Given the description of an element on the screen output the (x, y) to click on. 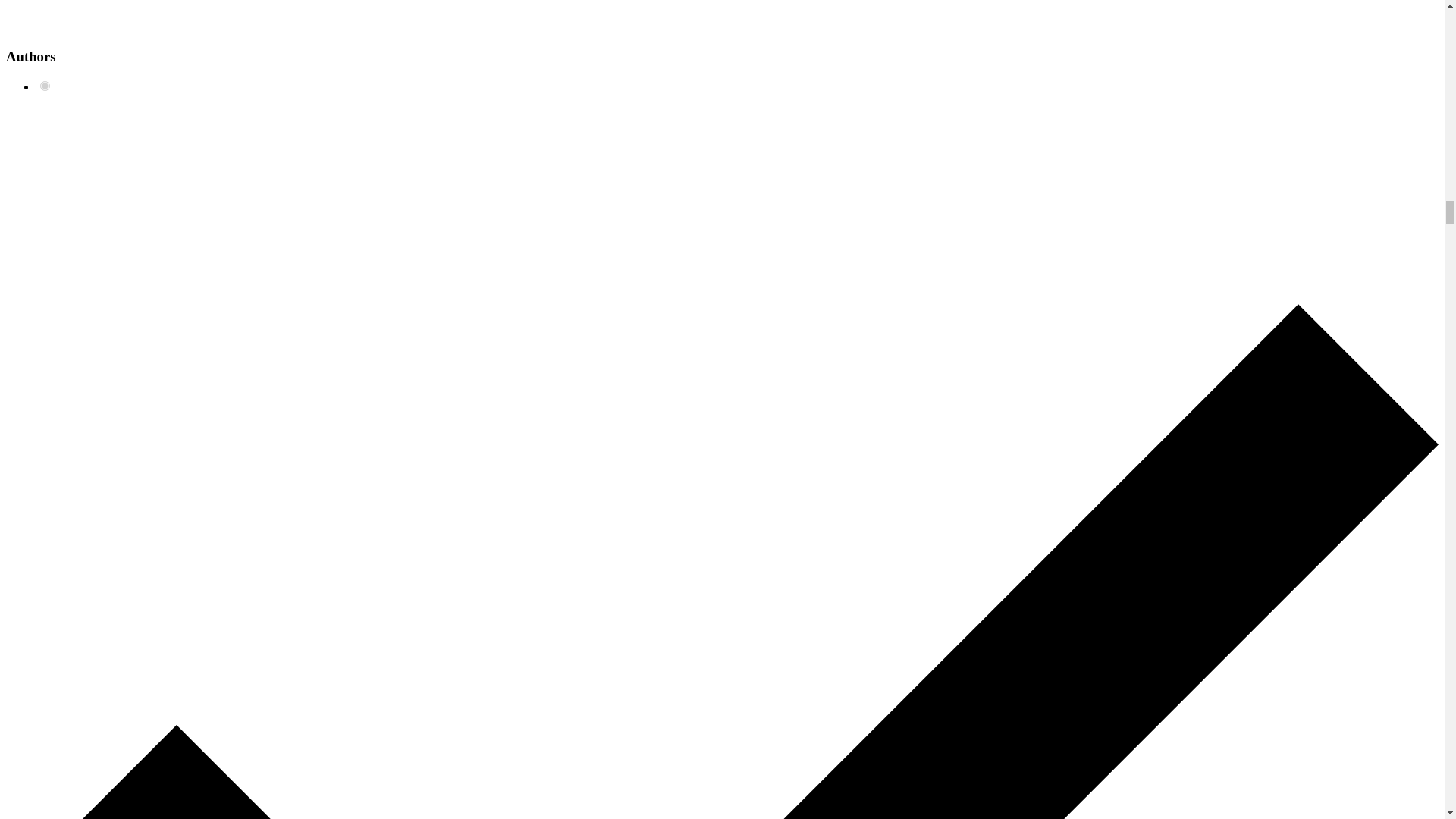
Cheung, Alan (44, 85)
